Given the description of an element on the screen output the (x, y) to click on. 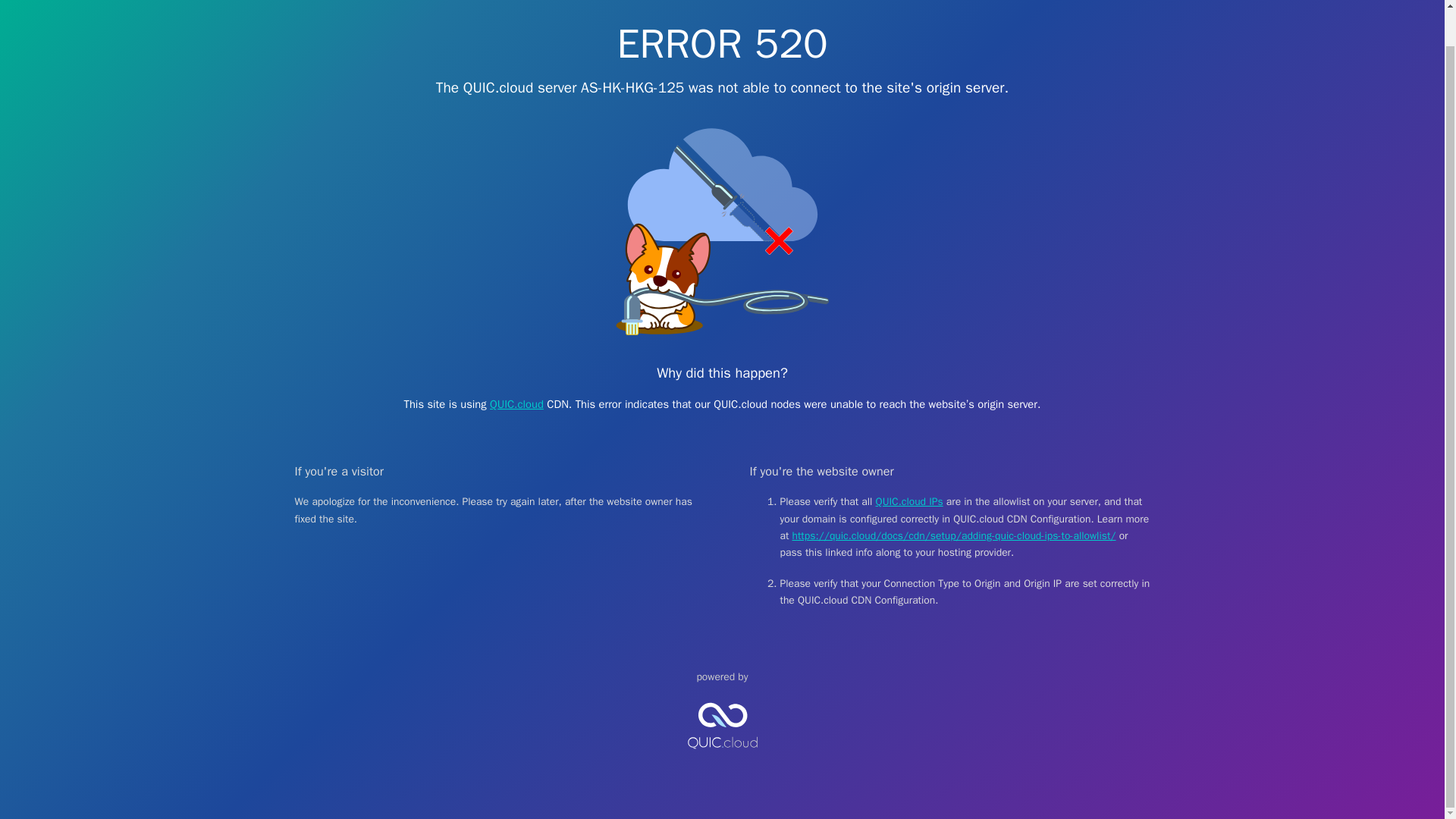
QUIC.cloud (516, 404)
QUIC.cloud (721, 761)
QUIC.cloud IPs (909, 501)
